Given the description of an element on the screen output the (x, y) to click on. 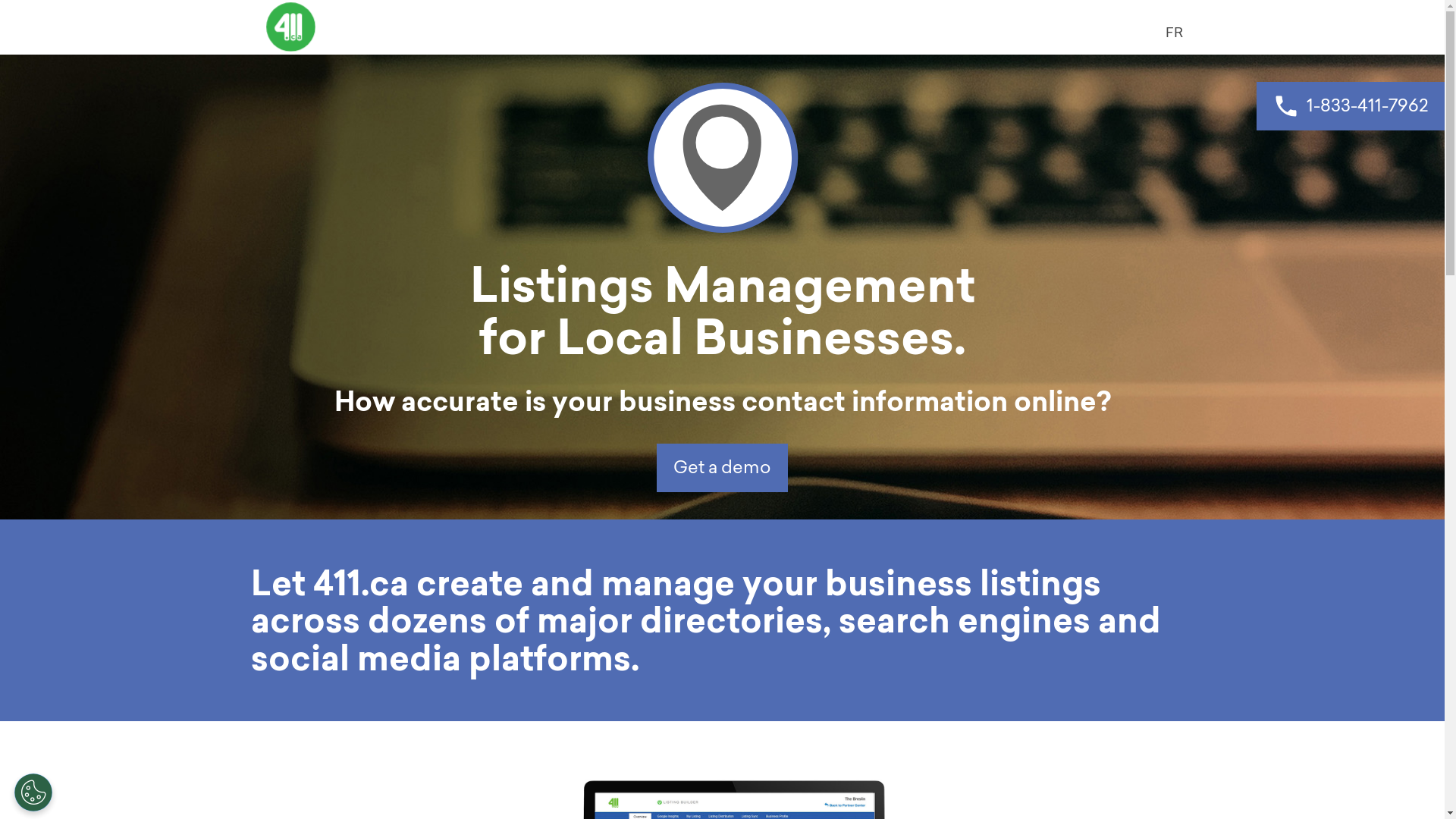
FR Element type: text (1173, 31)
1-833-411-7962 Element type: text (1350, 105)
Get a demo Element type: text (721, 467)
Custom Settings Element type: hover (33, 792)
